Given the description of an element on the screen output the (x, y) to click on. 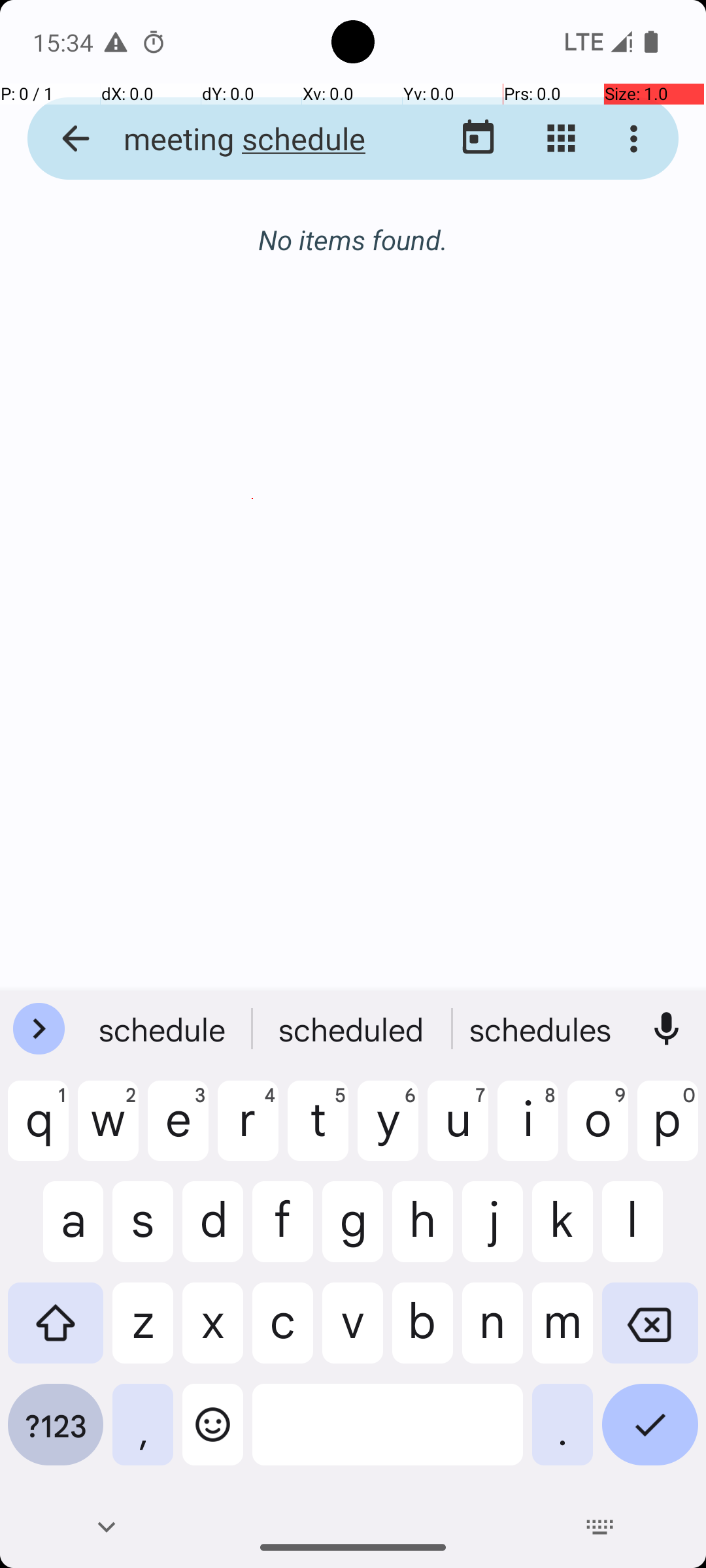
meeting schedule Element type: android.widget.EditText (252, 138)
November 3 (Fri) Element type: android.widget.TextView (352, 253)
schedule Element type: android.widget.FrameLayout (163, 1028)
scheduled Element type: android.widget.FrameLayout (352, 1028)
schedules Element type: android.widget.FrameLayout (541, 1028)
